Given the description of an element on the screen output the (x, y) to click on. 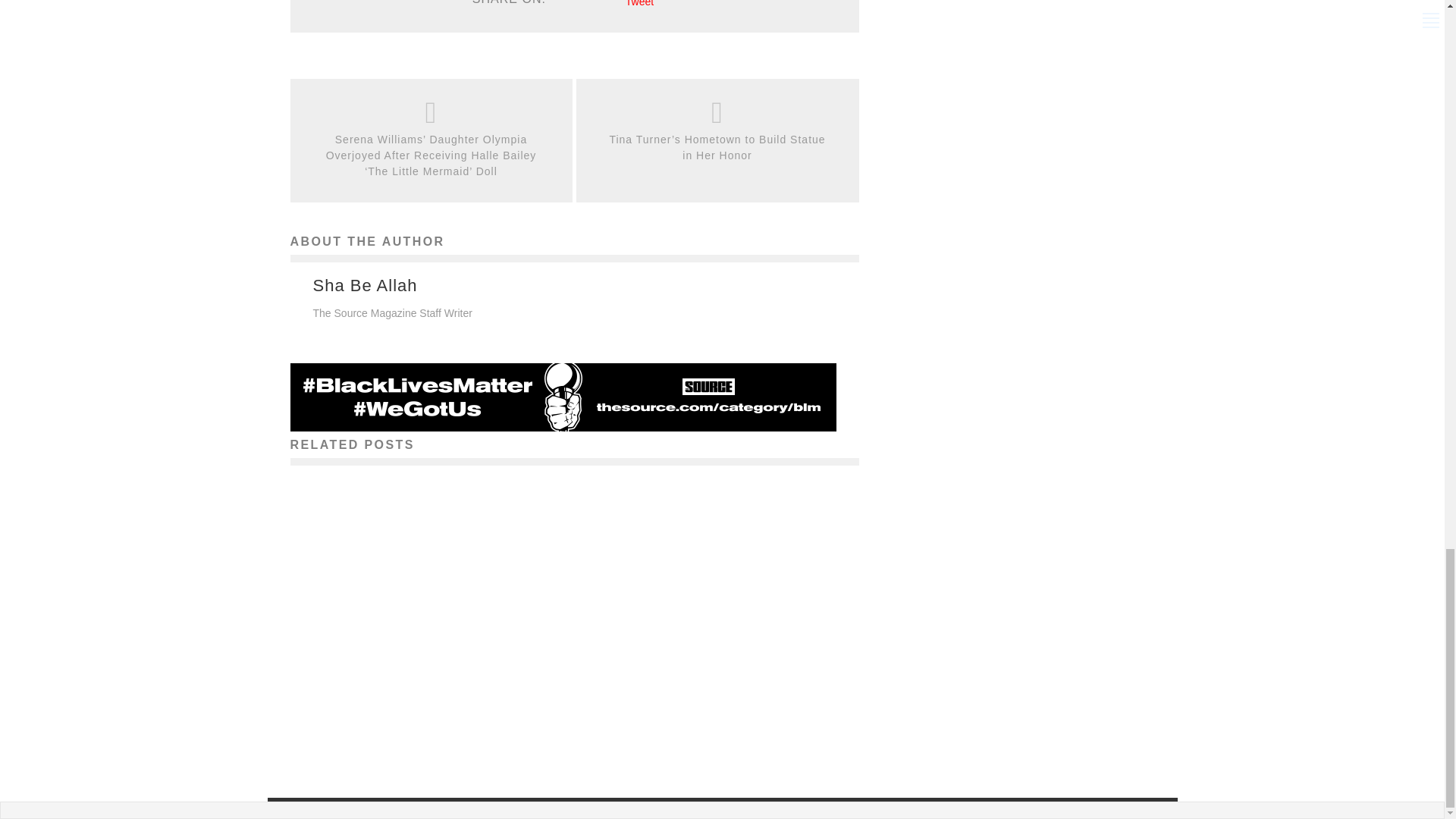
Tweet (639, 3)
Miss2Bees (383, 731)
Sha Be Allah (364, 285)
